Given the description of an element on the screen output the (x, y) to click on. 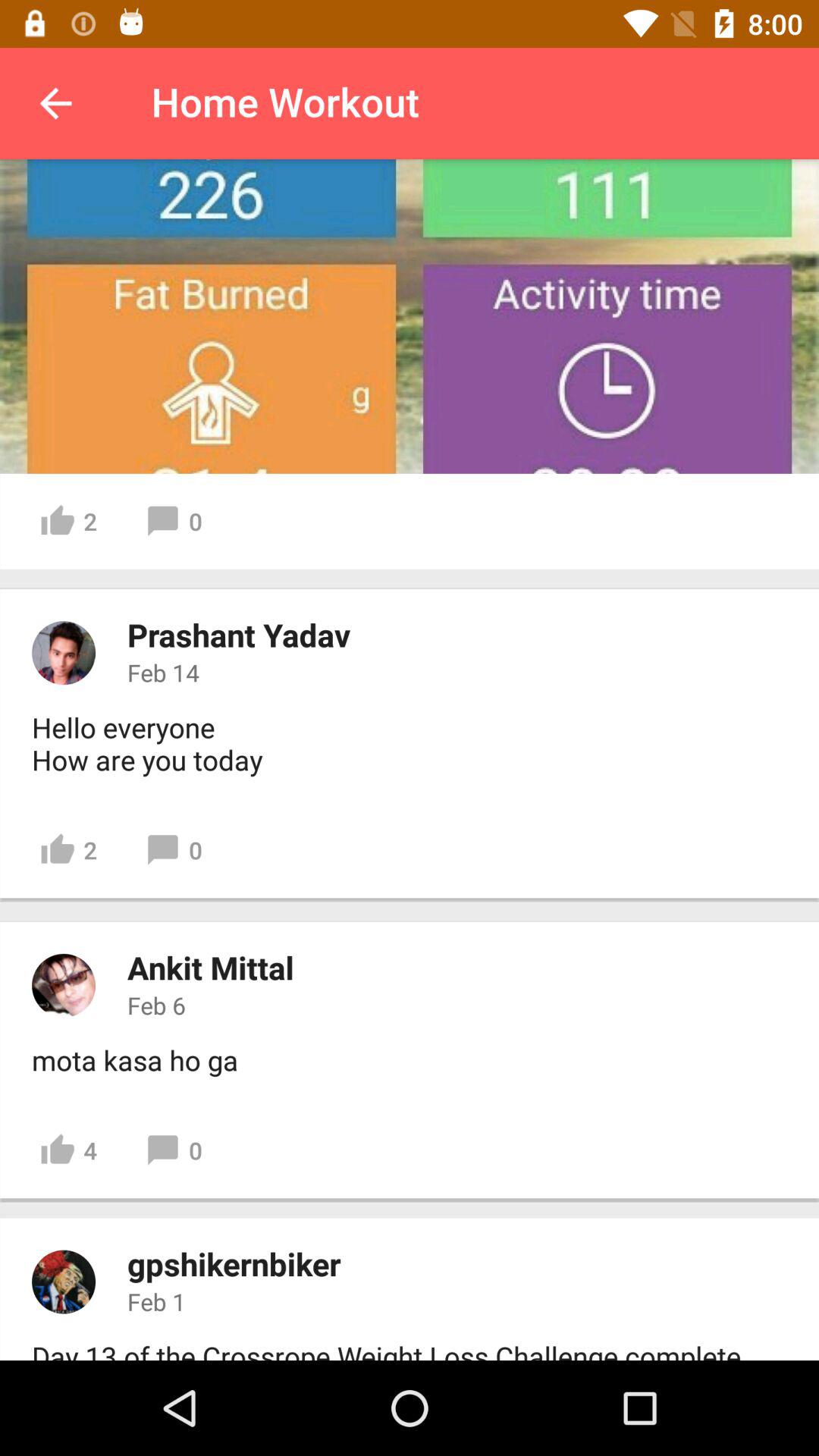
flip until the gpshikernbiker item (233, 1263)
